Given the description of an element on the screen output the (x, y) to click on. 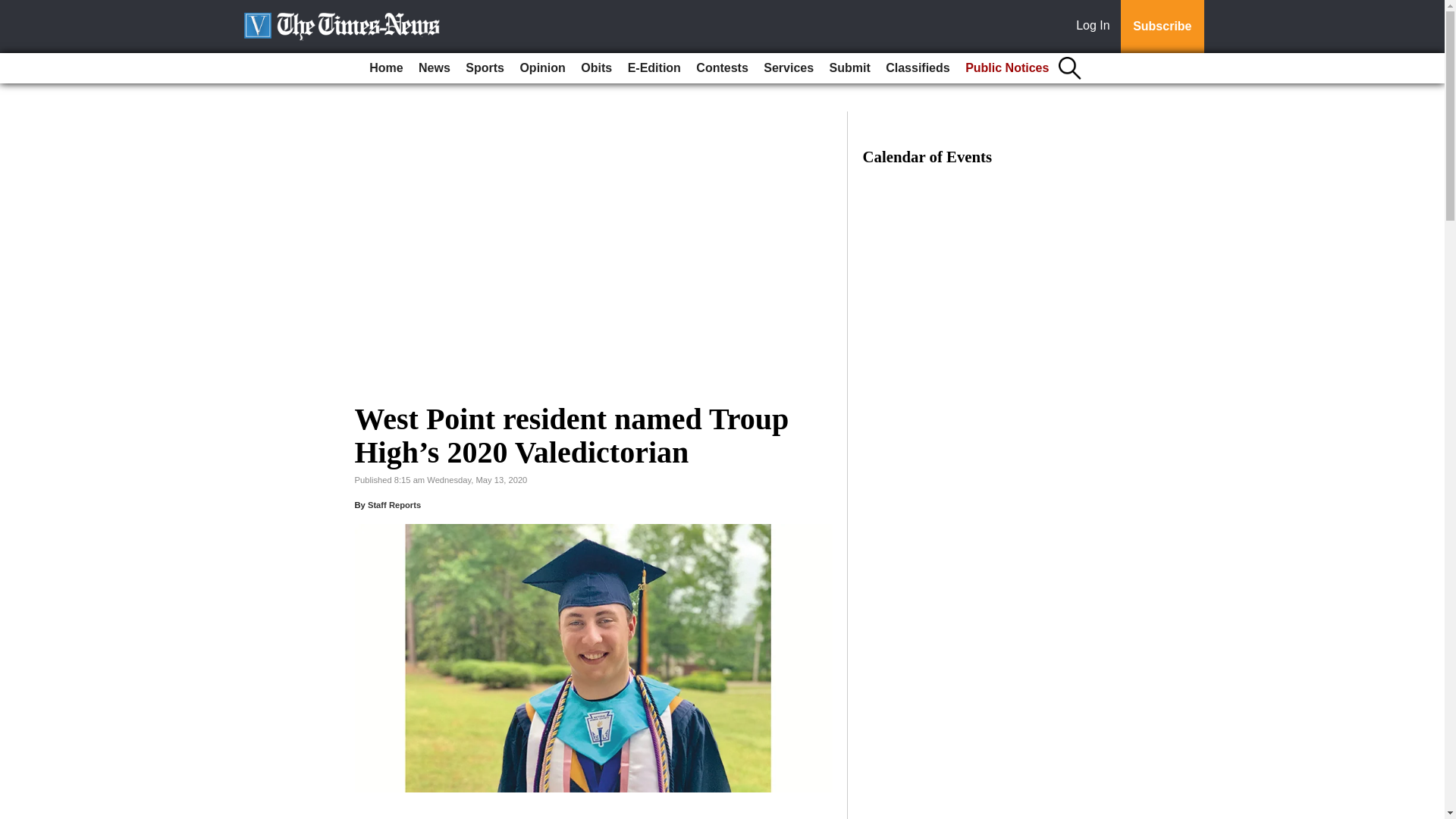
Opinion (541, 68)
Log In (1095, 26)
Staff Reports (394, 504)
E-Edition (654, 68)
Classifieds (917, 68)
Go (13, 9)
Services (788, 68)
Submit (850, 68)
Obits (596, 68)
Home (385, 68)
Public Notices (1006, 68)
Contests (722, 68)
News (434, 68)
Sports (485, 68)
Subscribe (1162, 26)
